Given the description of an element on the screen output the (x, y) to click on. 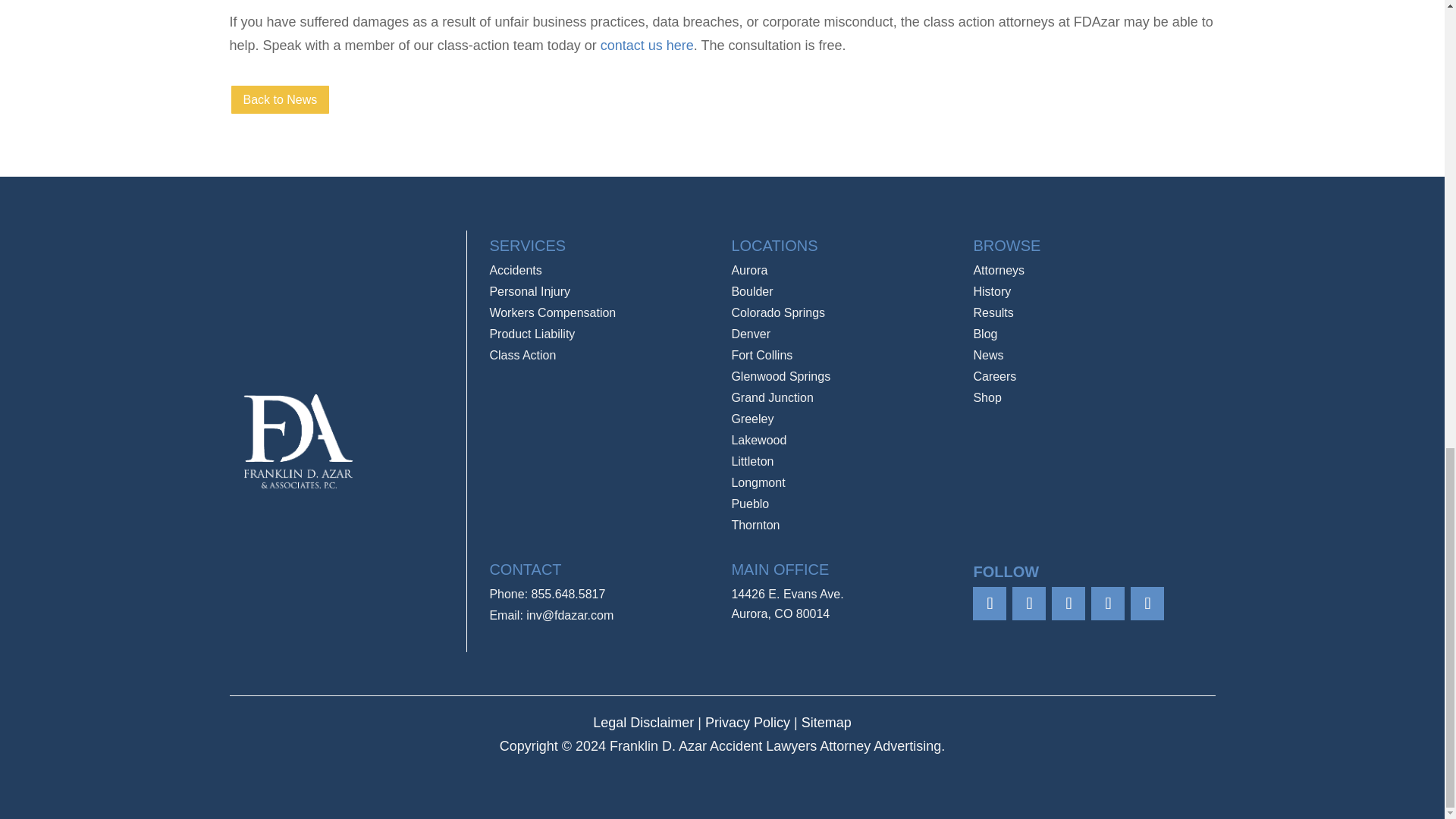
Follow on Instagram (1067, 603)
Follow on Youtube (1147, 603)
Follow on Twitter (1028, 603)
Follow on Facebook (989, 603)
Frank Azar Shop (986, 397)
Follow on LinkedIn (1107, 603)
